Given the description of an element on the screen output the (x, y) to click on. 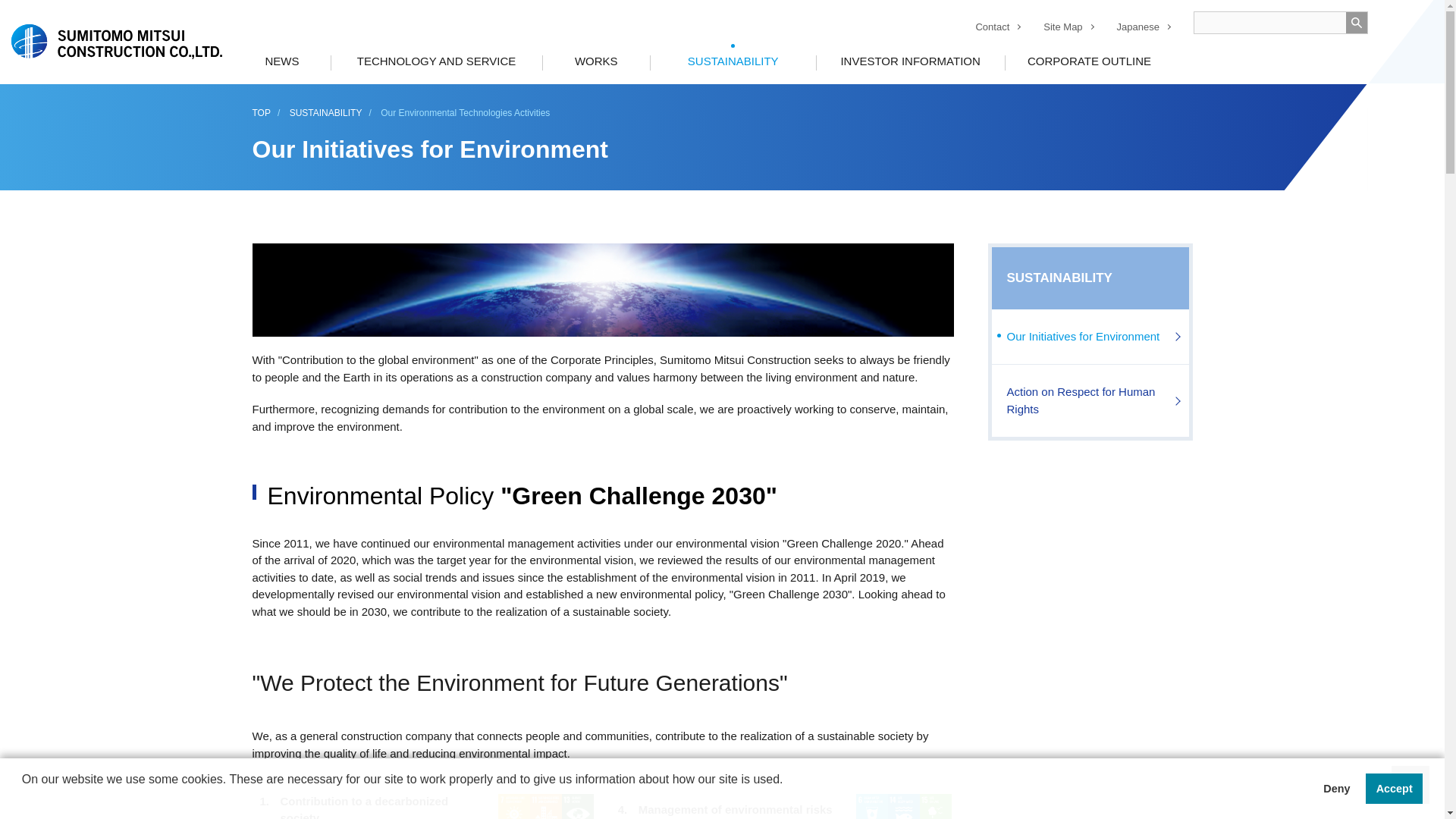
CORPORATE OUTLINE (1088, 61)
TOP (260, 112)
Japanese (1137, 26)
TECHNOLOGY AND SERVICE (435, 61)
Our Environmental Technologies Activities (465, 112)
SUSTAINABILITY (325, 112)
Contact (992, 26)
NEWS (281, 61)
SUSTAINABILITY (732, 61)
Action on Respect for Human Rights (1090, 400)
SUSTAINABILITY (1090, 278)
WORKS (595, 61)
INVESTOR INFORMATION (909, 61)
Our Initiatives for Environment (1090, 336)
Site Map (1062, 26)
